Given the description of an element on the screen output the (x, y) to click on. 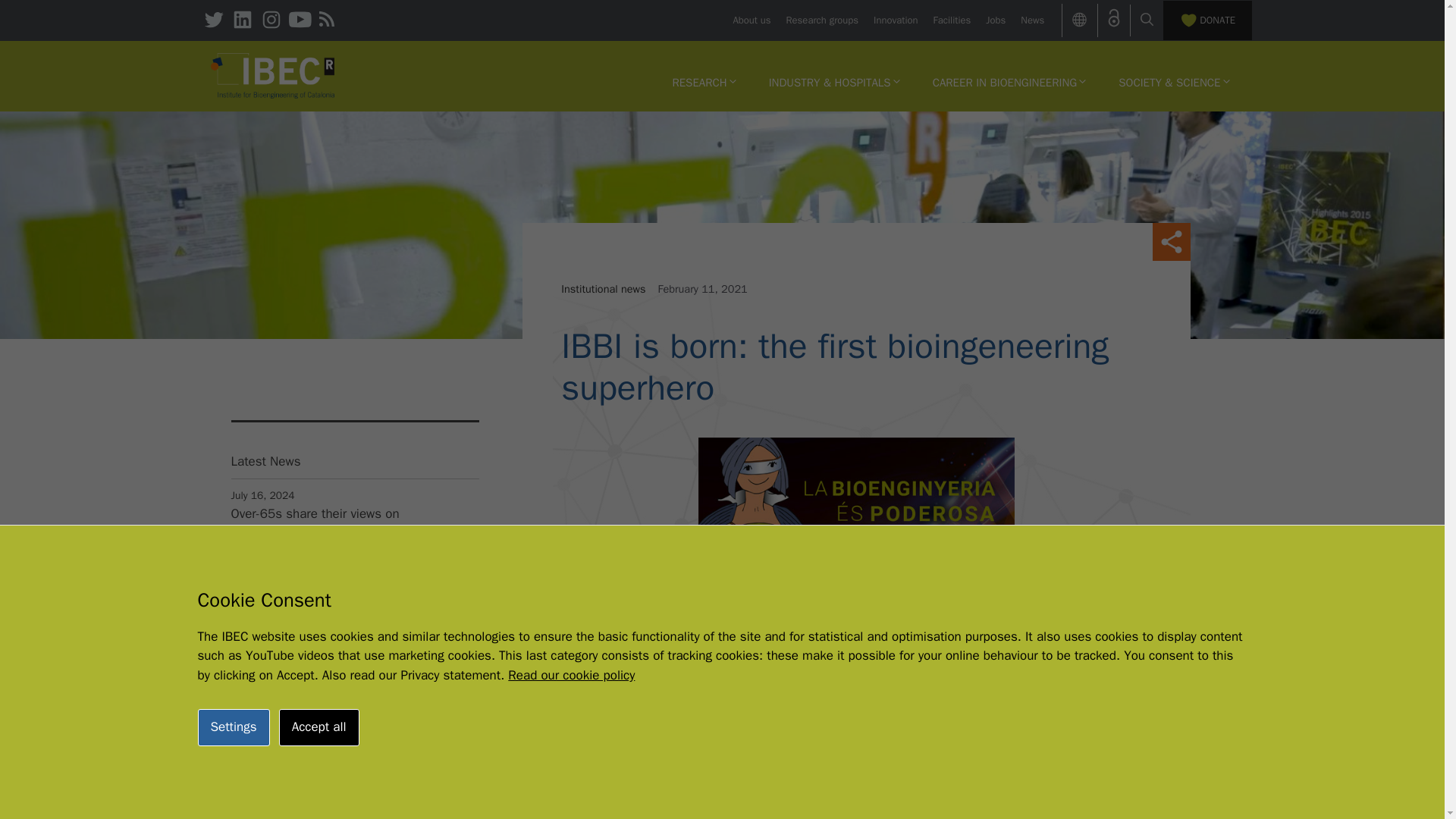
Research groups (822, 19)
RESEARCH (704, 81)
About us (751, 19)
Institute for Bioengineering of Catalonia (272, 75)
Innovation (895, 19)
News (1031, 19)
DONATE (1207, 20)
Institute for Bioengineering of Catalonia (272, 74)
Jobs (995, 19)
Facilities (952, 19)
